Given the description of an element on the screen output the (x, y) to click on. 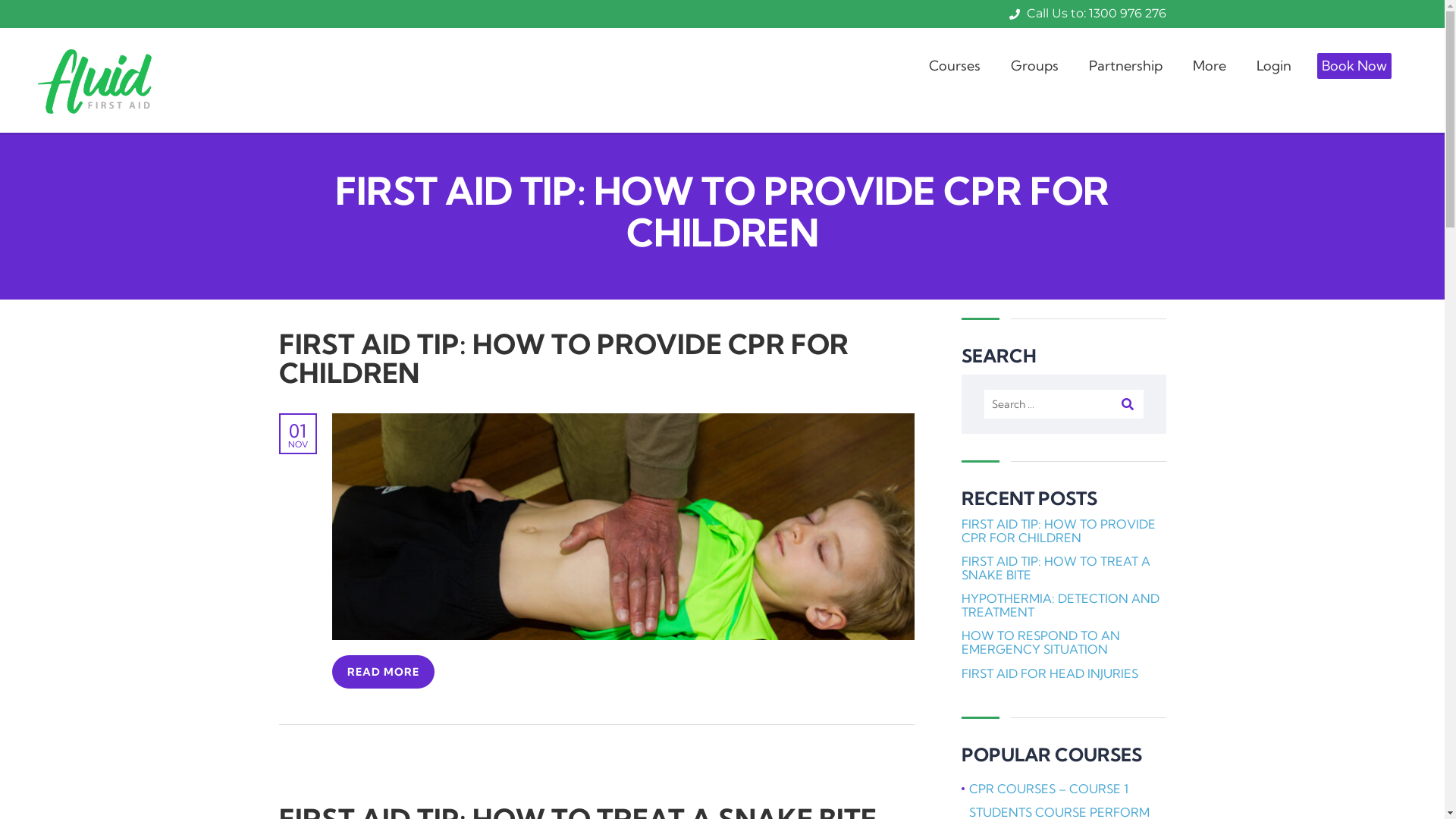
FIRST AID TIP: HOW TO PROVIDE CPR FOR CHILDREN Element type: text (563, 357)
Read more Element type: hover (623, 421)
FIRST AID FOR HEAD INJURIES Element type: text (1049, 673)
More Element type: text (1209, 65)
HYPOTHERMIA: DETECTION AND TREATMENT Element type: text (1063, 604)
Courses Element type: text (954, 65)
Groups Element type: text (1034, 65)
Search Element type: text (1127, 403)
Login Element type: text (1273, 65)
READ MORE Element type: text (383, 671)
1300 976 276 Element type: text (1127, 13)
HOW TO RESPOND TO AN EMERGENCY SITUATION Element type: text (1063, 641)
FIRST AID TIP: HOW TO TREAT A SNAKE BITE Element type: text (1063, 567)
Book Now Element type: text (1354, 65)
FIRST AID TIP: HOW TO PROVIDE CPR FOR CHILDREN Element type: text (1063, 530)
Partnership Element type: text (1125, 65)
